Given the description of an element on the screen output the (x, y) to click on. 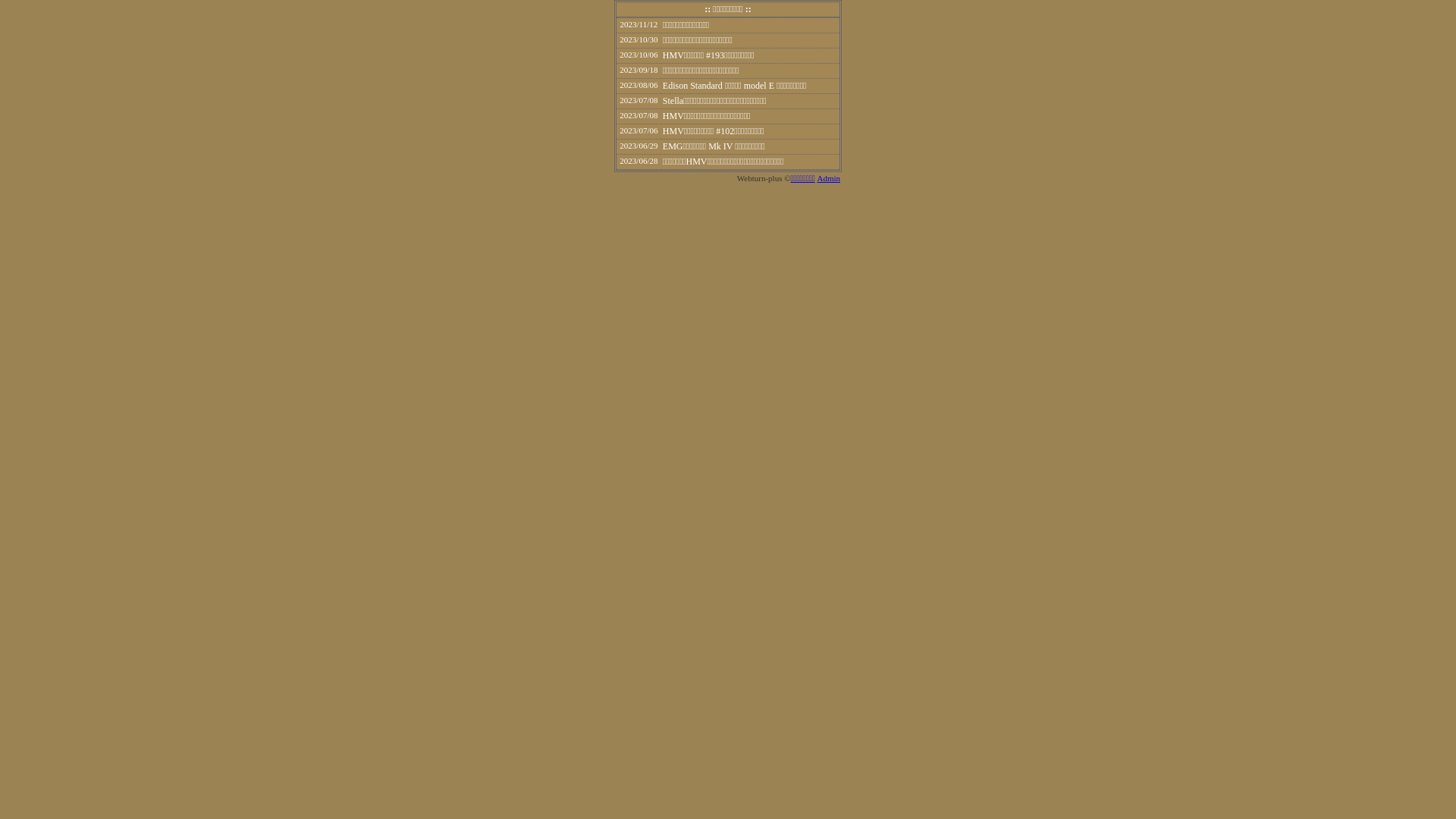
Admin Element type: text (828, 177)
